Given the description of an element on the screen output the (x, y) to click on. 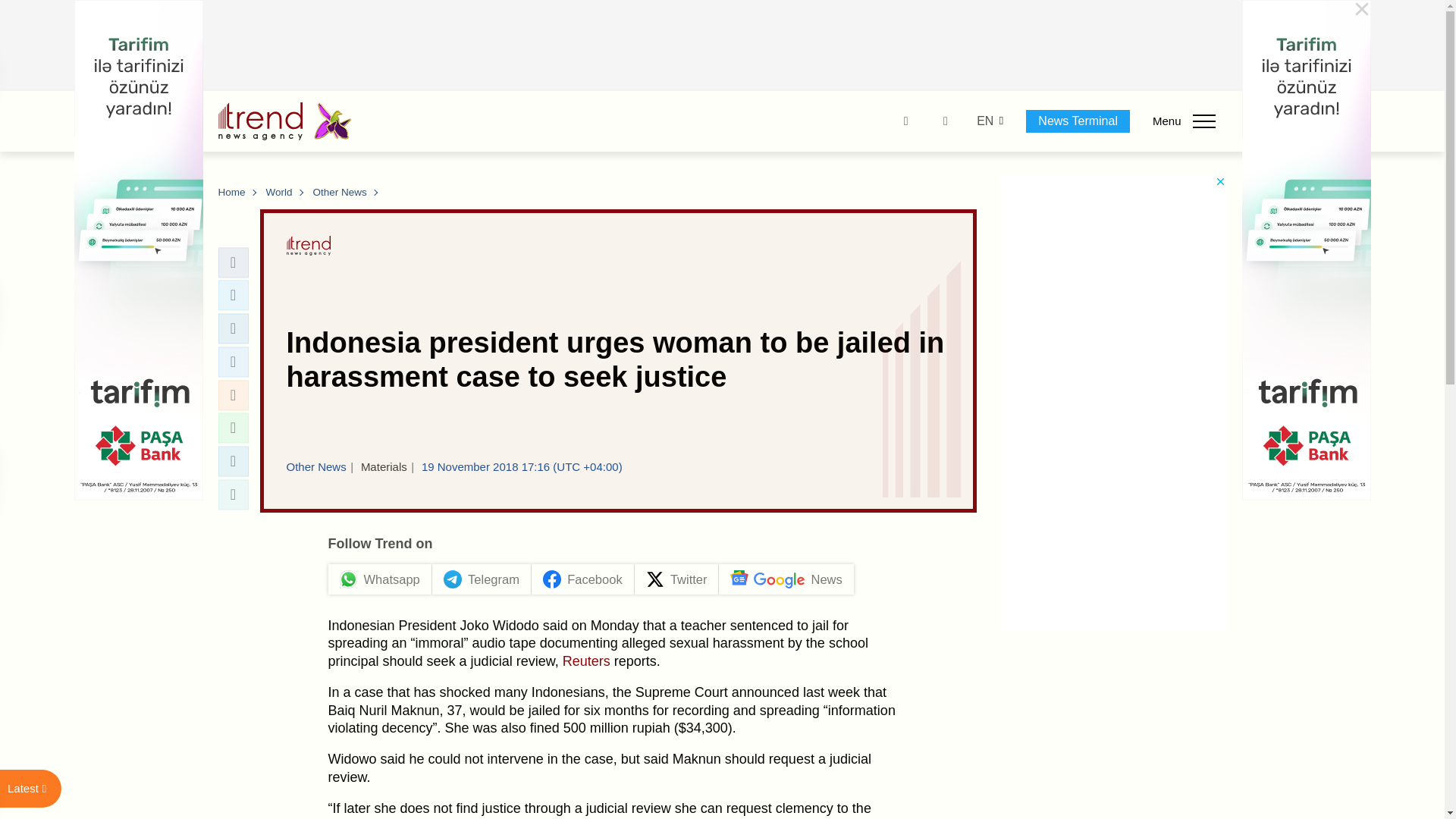
EN (984, 121)
3rd party ad content (722, 45)
News Terminal (1077, 120)
English (984, 121)
